Given the description of an element on the screen output the (x, y) to click on. 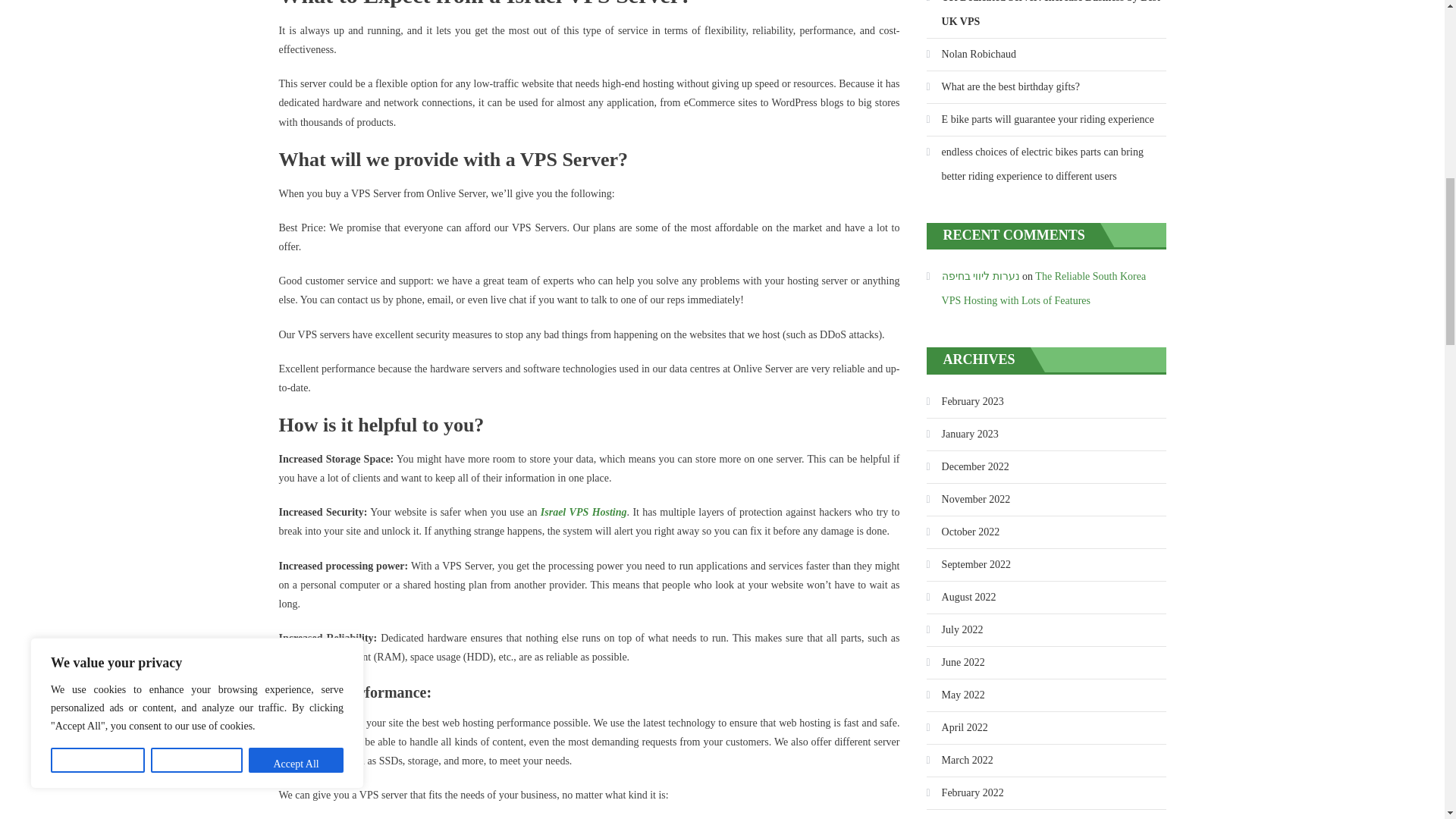
Israel VPS Hosting (583, 511)
